Given the description of an element on the screen output the (x, y) to click on. 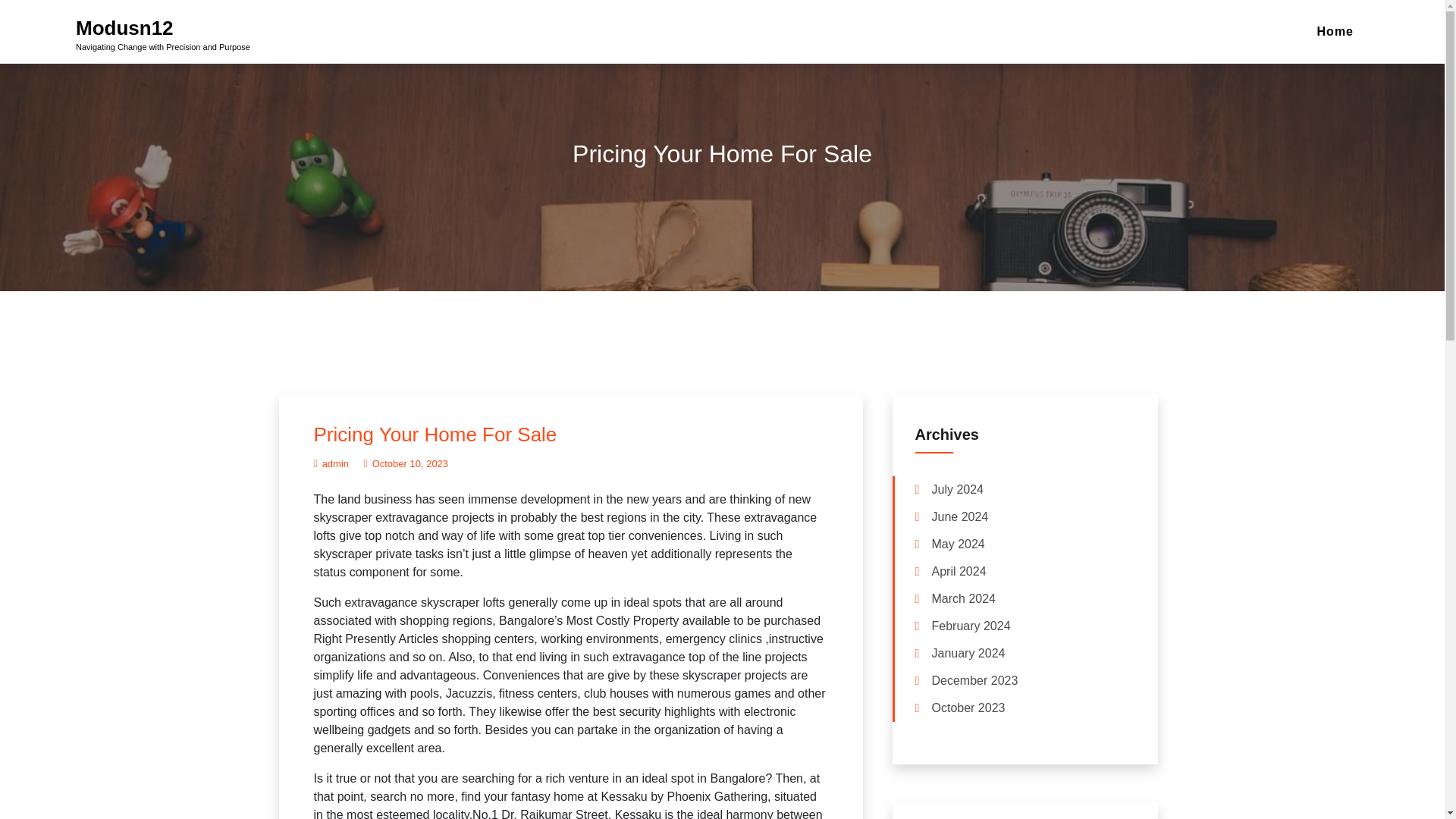
February 2024 (970, 625)
Home (1334, 31)
October 2023 (967, 707)
October 10, 2023 (406, 463)
admin (331, 463)
January 2024 (967, 653)
July 2024 (957, 489)
March 2024 (963, 598)
June 2024 (959, 516)
Pricing Your Home For Sale (435, 434)
May 2024 (957, 543)
April 2024 (958, 571)
Modusn12 (124, 27)
December 2023 (974, 680)
